Given the description of an element on the screen output the (x, y) to click on. 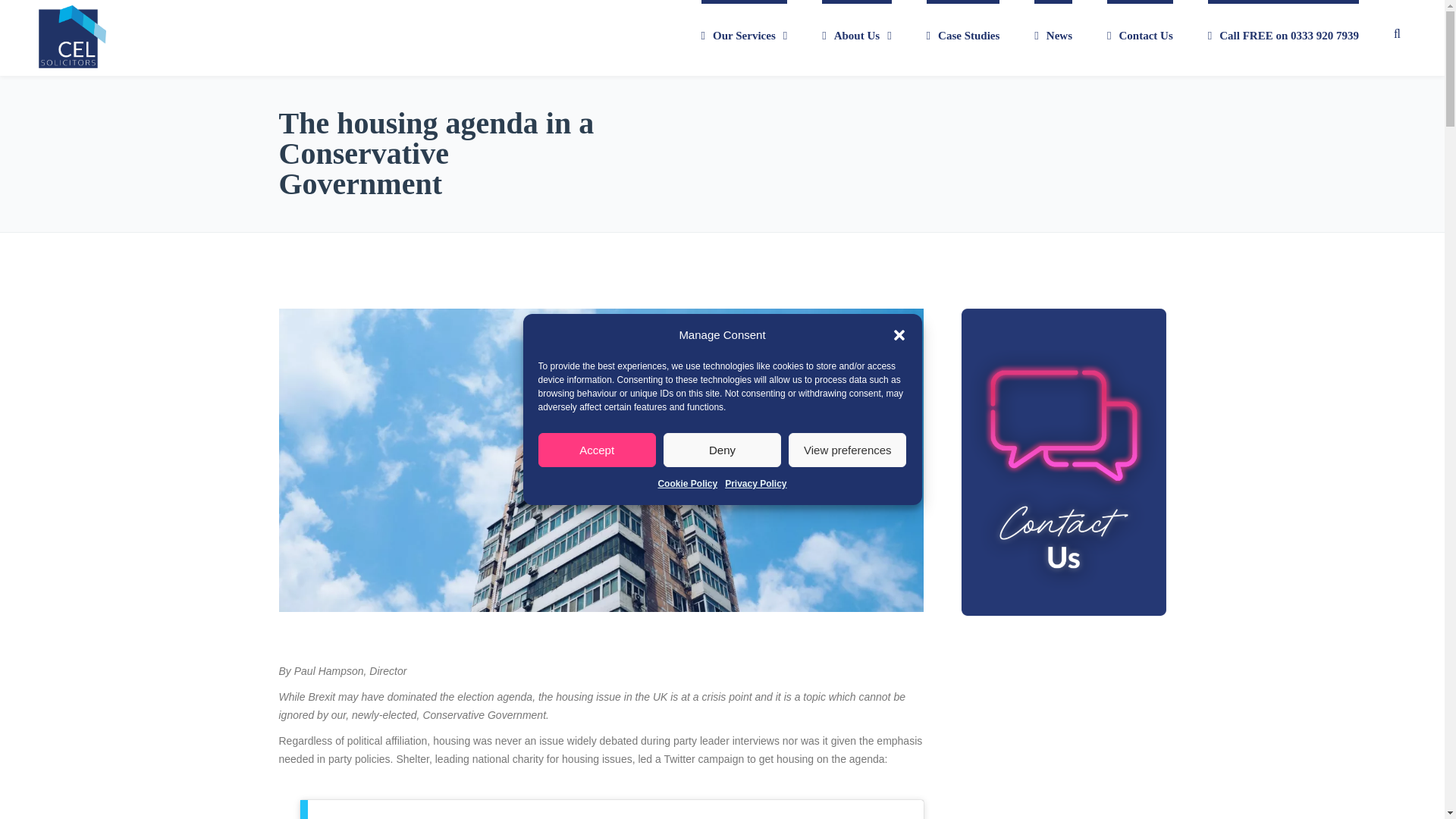
View preferences (847, 449)
CEL Solicitors (68, 38)
Accept (597, 449)
Case Studies (963, 38)
Cookie Policy (687, 484)
Deny (721, 449)
About Us (856, 38)
Our Services (744, 38)
Privacy Policy (755, 484)
